Given the description of an element on the screen output the (x, y) to click on. 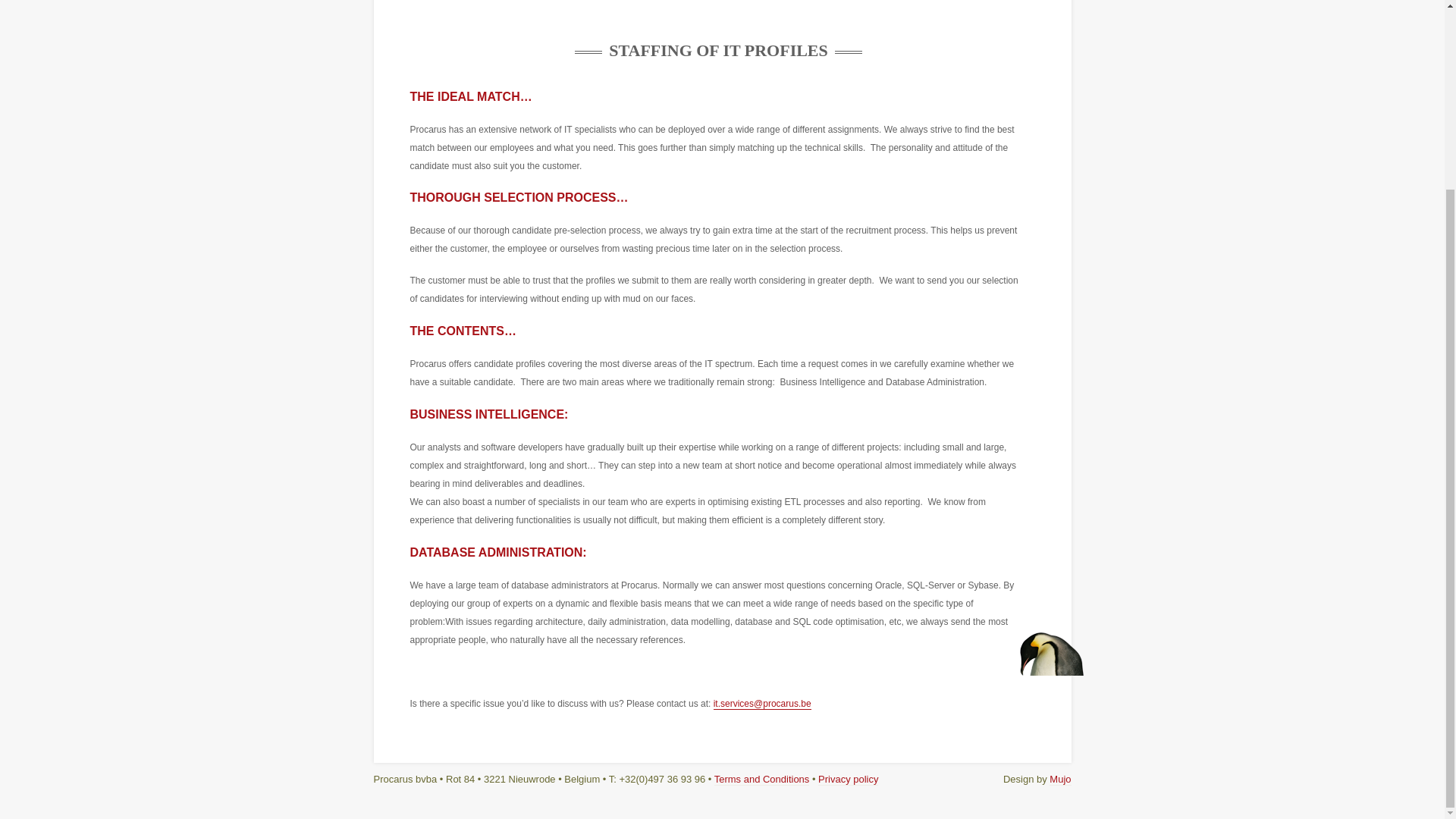
Privacy policy (847, 779)
Mujo (1059, 779)
Terms and Conditions (761, 779)
